Given the description of an element on the screen output the (x, y) to click on. 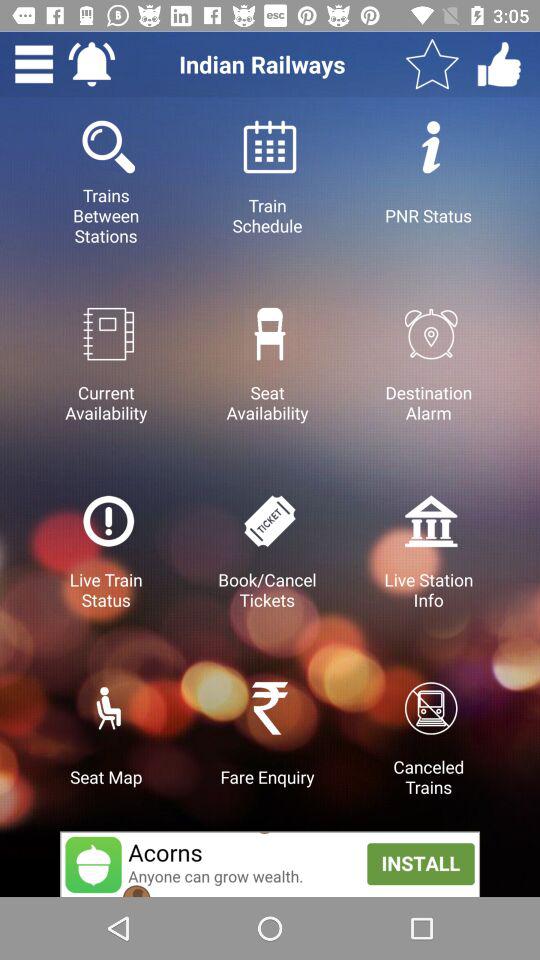
click item below seat map item (270, 863)
